Given the description of an element on the screen output the (x, y) to click on. 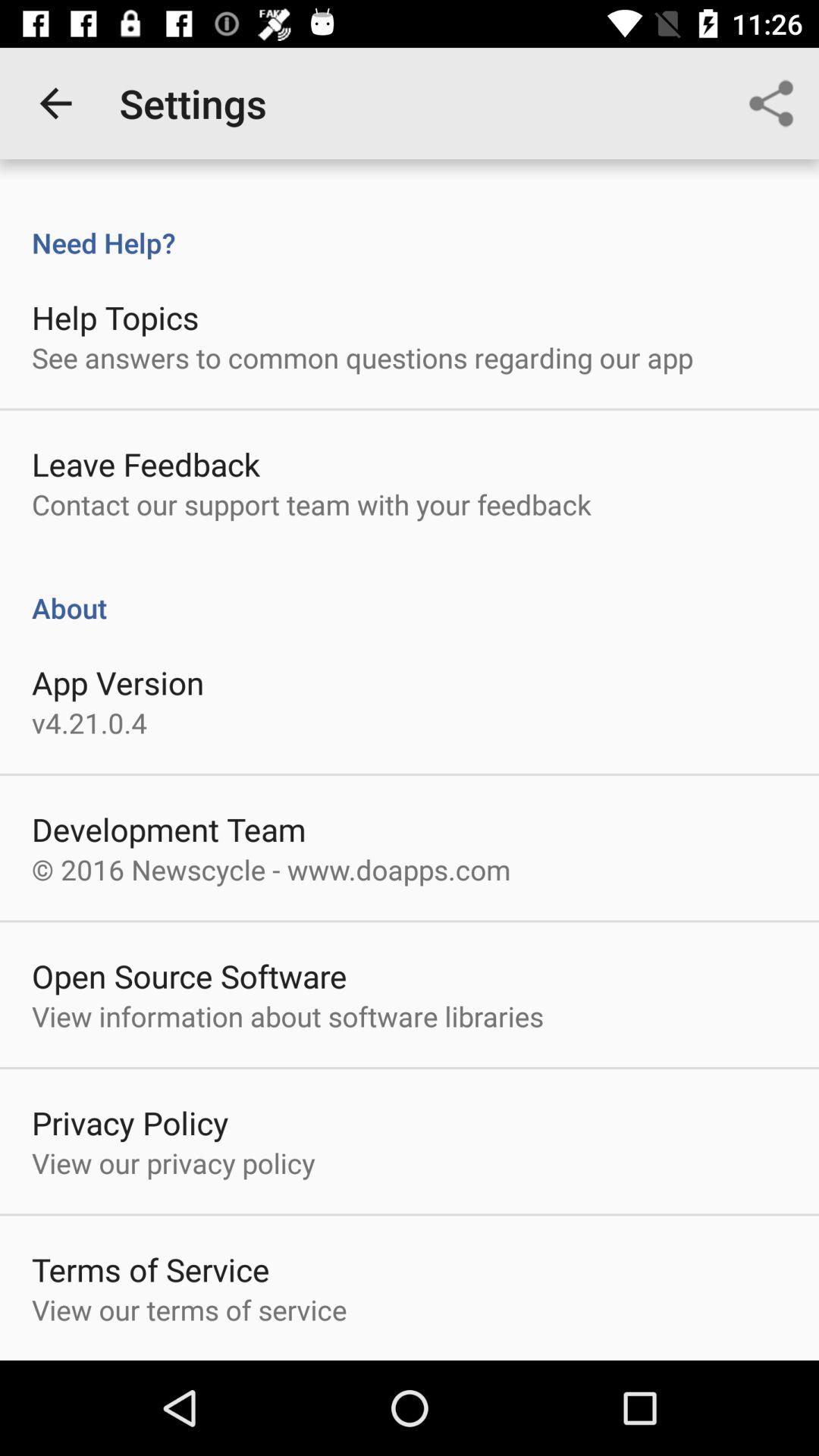
launch icon above help topics item (409, 226)
